Given the description of an element on the screen output the (x, y) to click on. 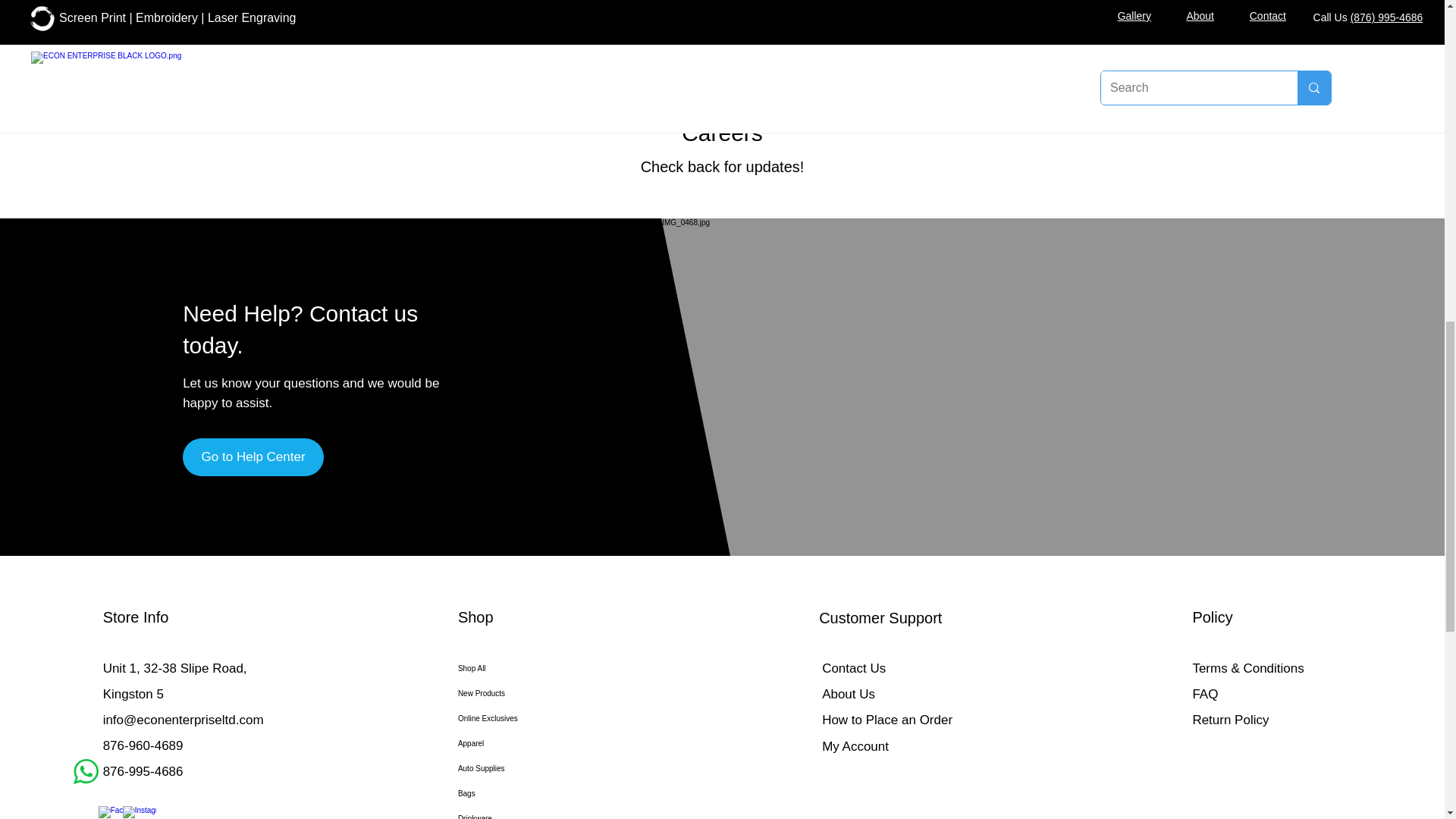
Auto Supplies (541, 768)
Shop All (541, 668)
New Products (541, 692)
Bags (541, 793)
Online Exclusives (541, 718)
Go to Help Center (253, 456)
